Given the description of an element on the screen output the (x, y) to click on. 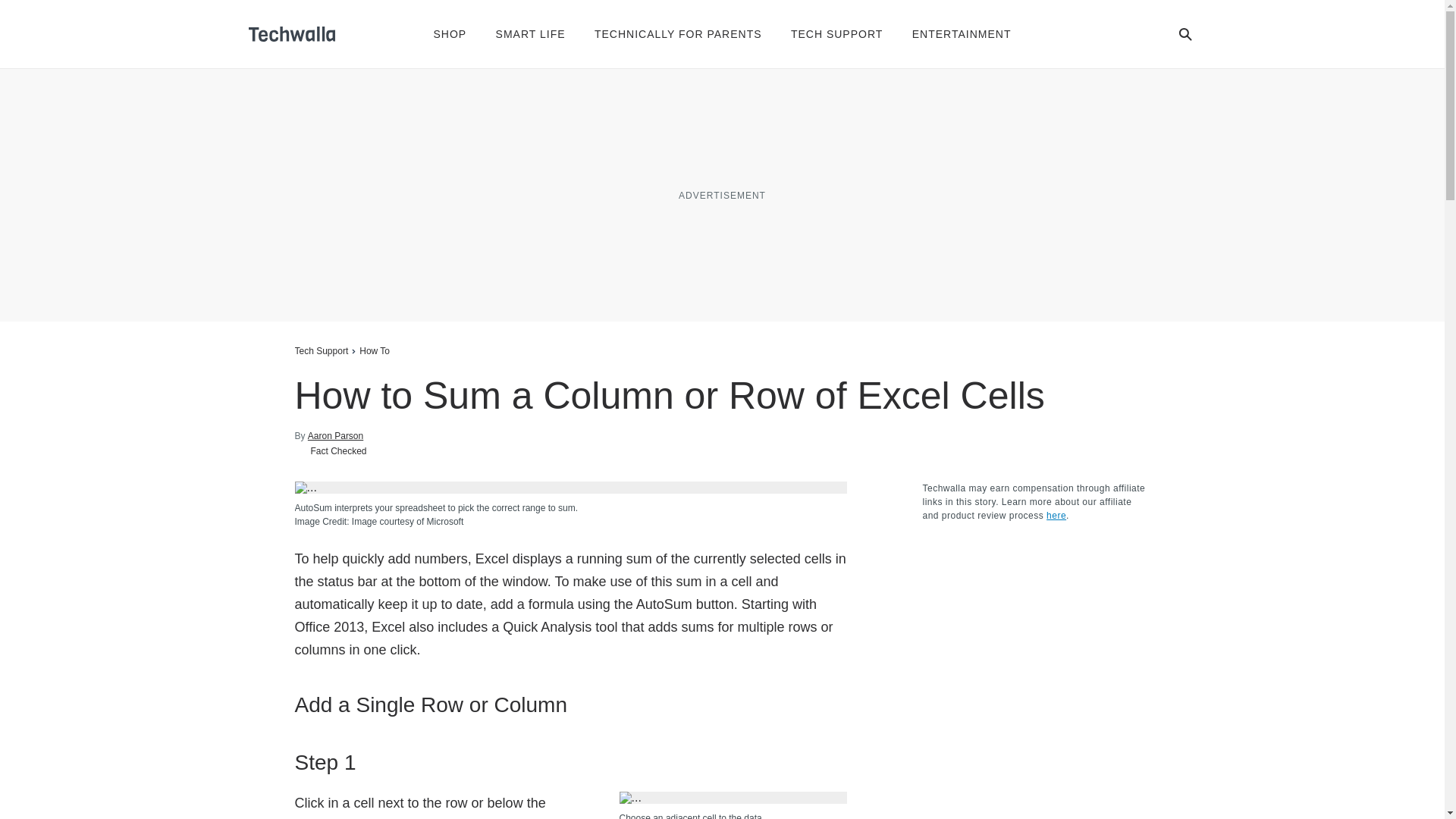
Fact Checked (330, 450)
Tech Support (320, 350)
Learn more about our affiliate and product review process (1055, 515)
How To (374, 350)
Aaron Parson (334, 435)
